Given the description of an element on the screen output the (x, y) to click on. 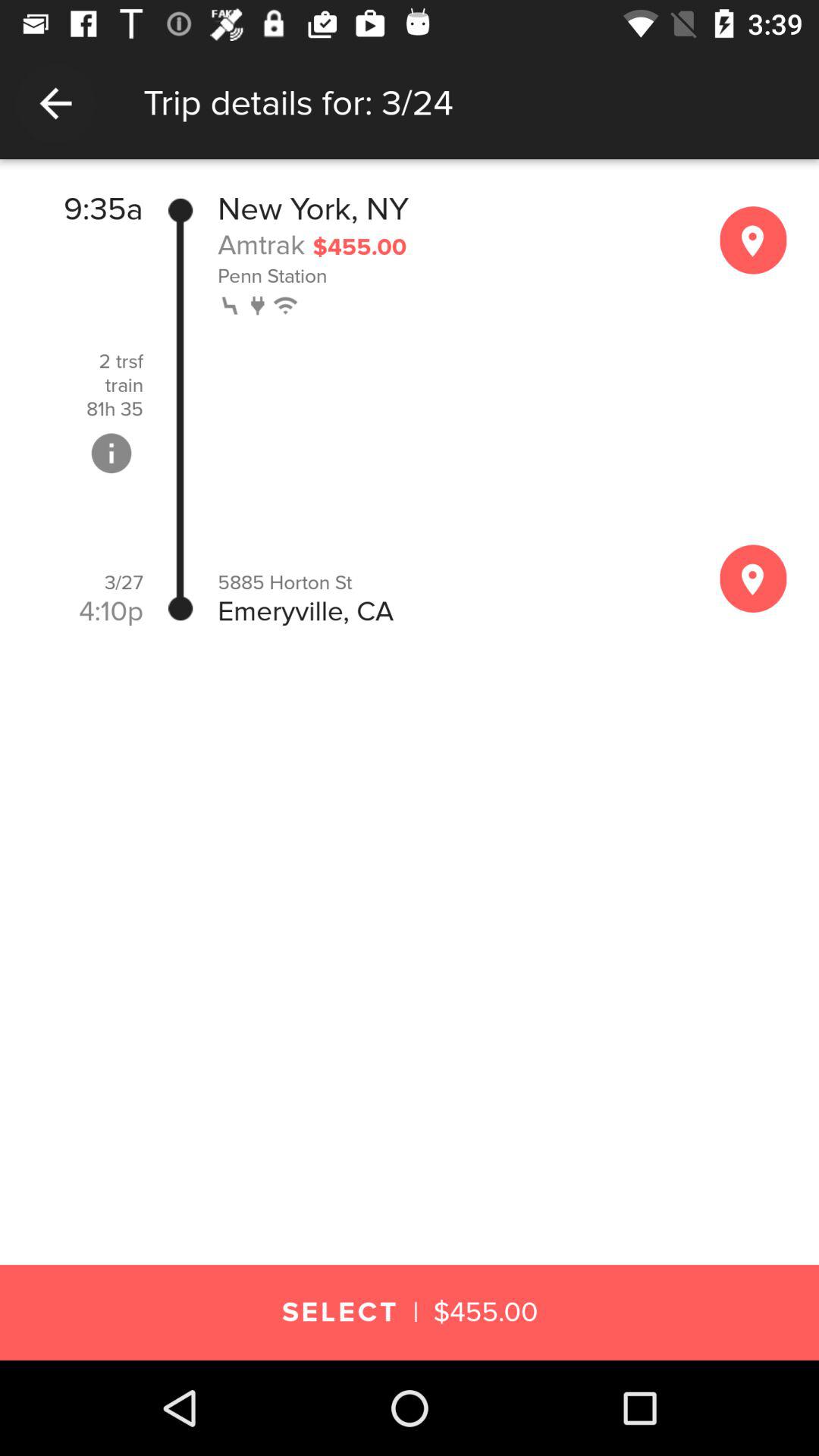
select the item below the 4:10p (409, 643)
